Given the description of an element on the screen output the (x, y) to click on. 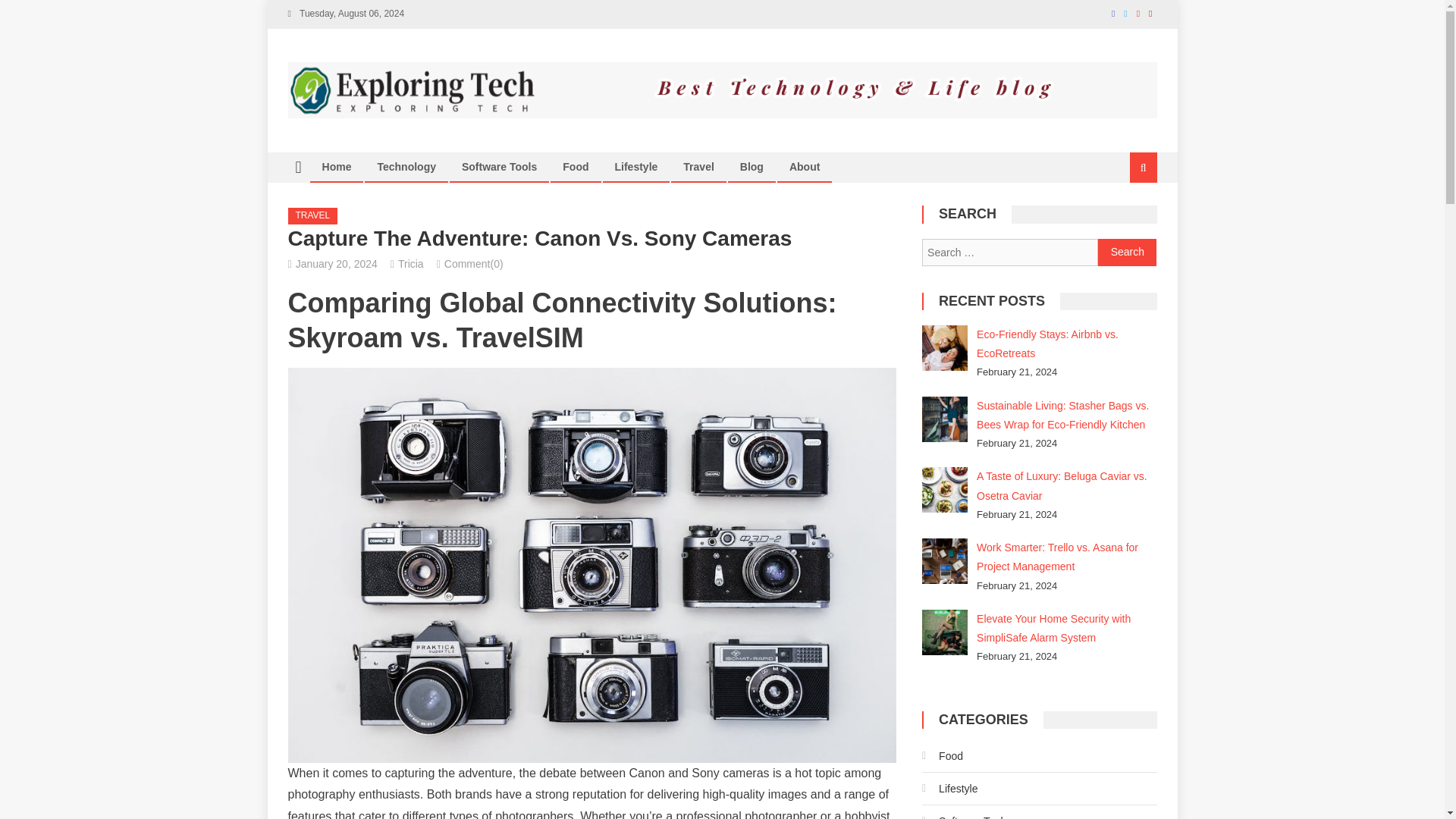
Food (575, 166)
Search (1126, 252)
Software Tools (498, 166)
Search (1123, 217)
January 20, 2024 (336, 263)
TRAVEL (312, 216)
Home (336, 166)
Lifestyle (636, 166)
Tricia (410, 263)
Search (1126, 252)
Technology (405, 166)
Blog (751, 166)
Travel (698, 166)
About (804, 166)
